Given the description of an element on the screen output the (x, y) to click on. 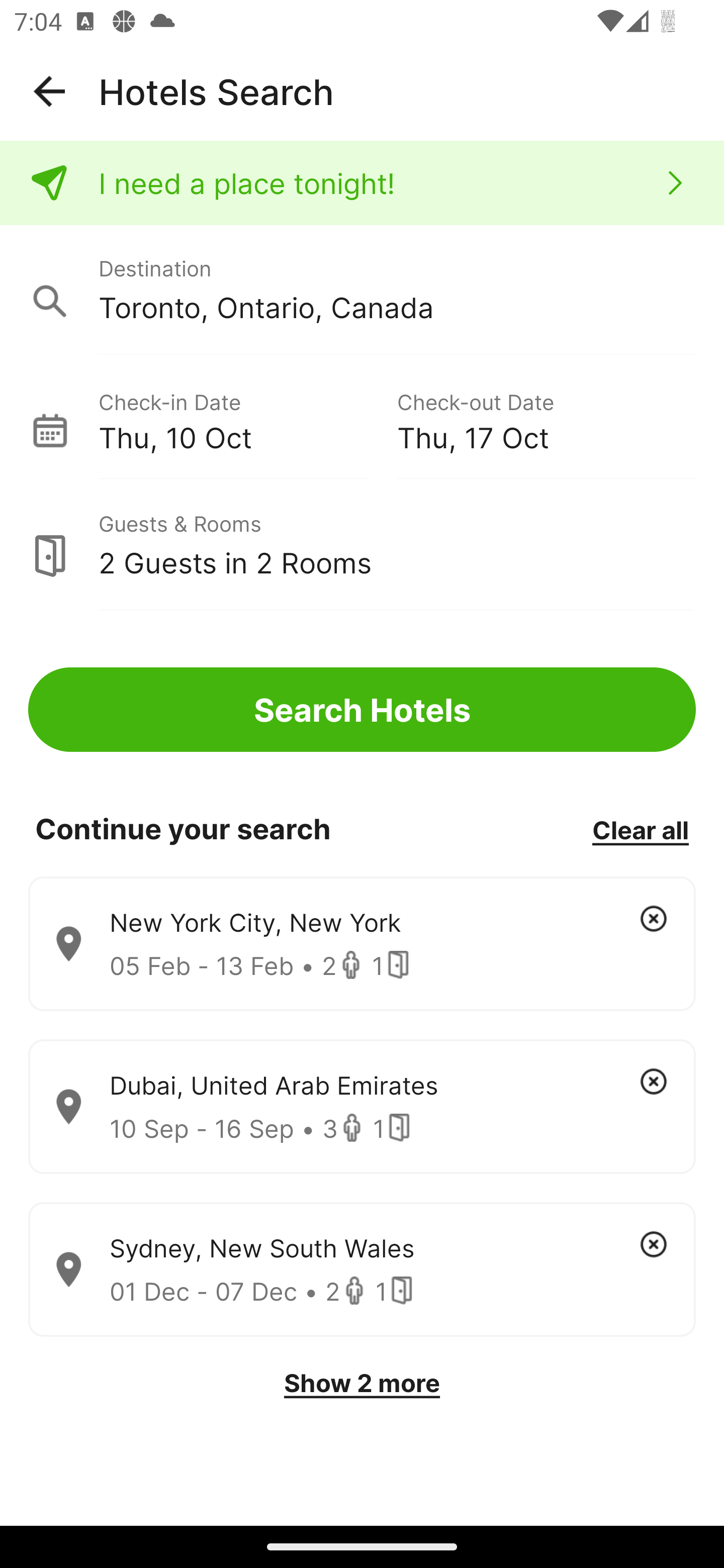
I need a place tonight! (362, 183)
Destination Toronto, Ontario, Canada (362, 290)
Check-in Date Thu, 10 Oct (247, 418)
Check-out Date Thu, 17 Oct (546, 418)
Guests & Rooms 2 Guests in 2 Rooms (362, 545)
Search Hotels (361, 709)
Clear all (640, 829)
New York City, New York 05 Feb - 13 Feb • 2  1  (361, 943)
Sydney, New South Wales 01 Dec - 07 Dec • 2  1  (361, 1269)
Show 2 more (362, 1382)
